Given the description of an element on the screen output the (x, y) to click on. 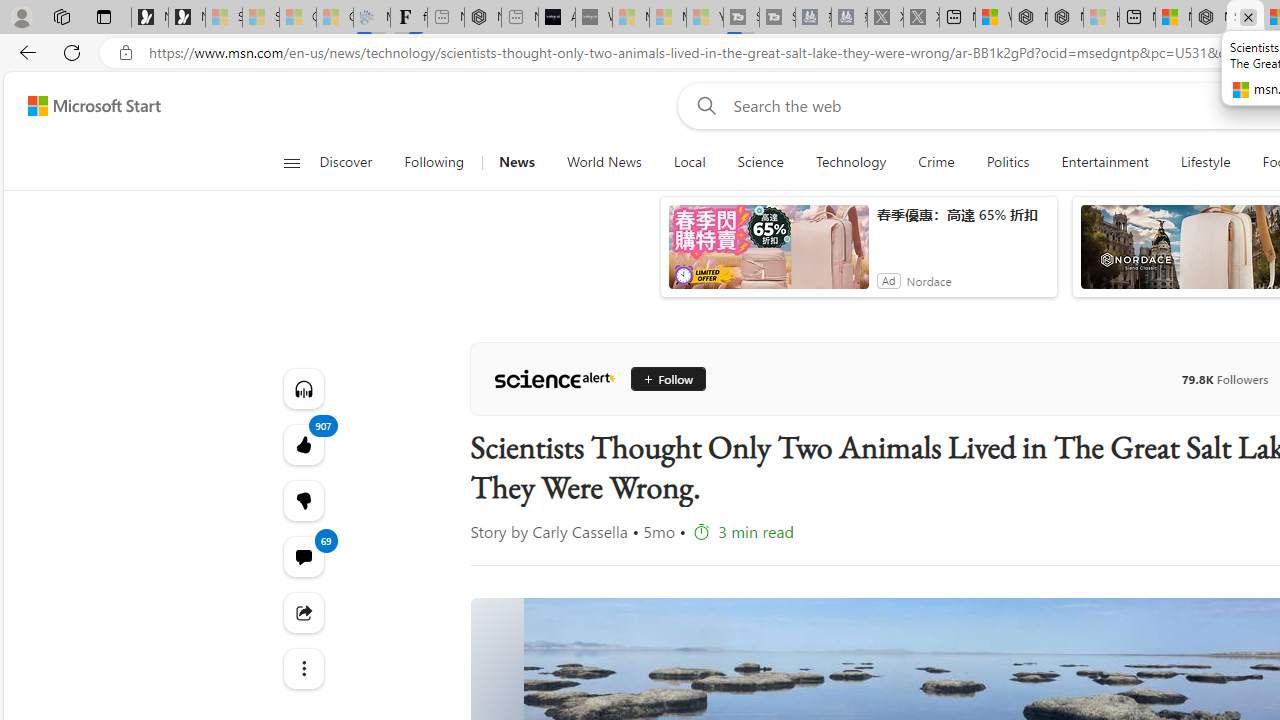
Share this story (302, 612)
Tab actions menu (104, 16)
Back (24, 52)
World News (603, 162)
Entertainment (1104, 162)
Following (434, 162)
ScienceAlert (554, 378)
ScienceAlert (554, 378)
News (516, 162)
